Given the description of an element on the screen output the (x, y) to click on. 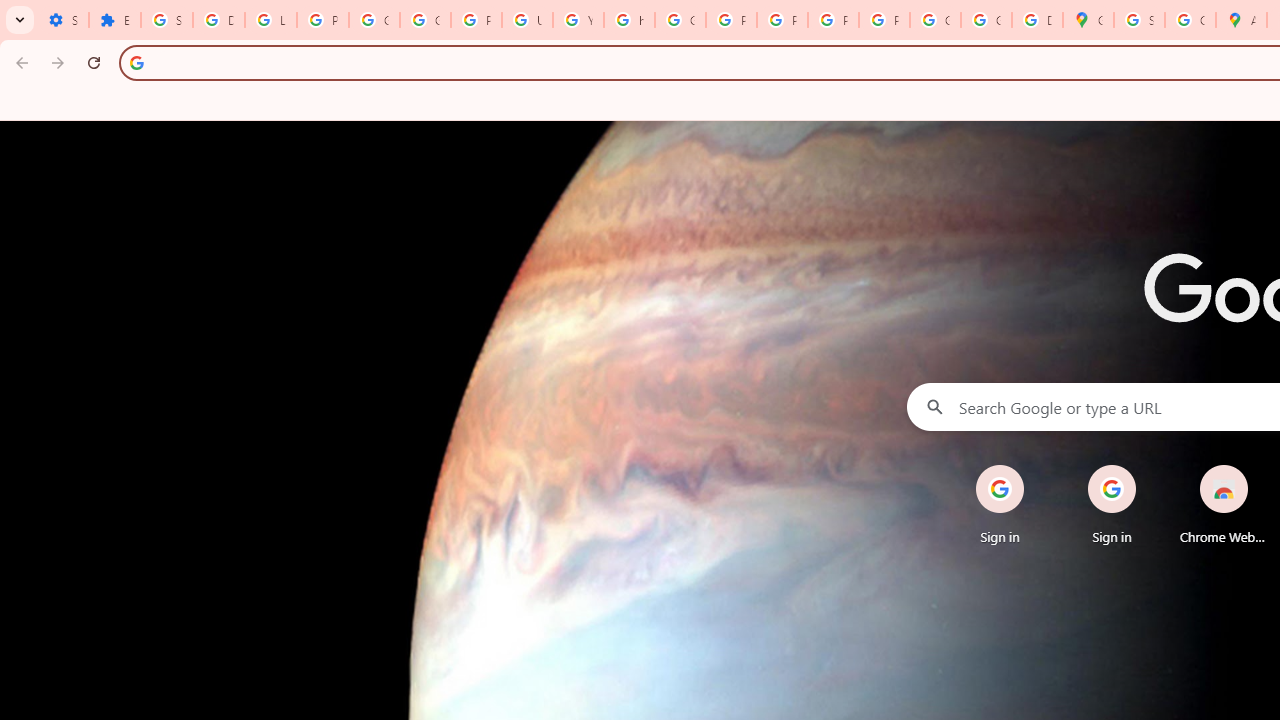
Sign in - Google Accounts (1138, 20)
Search icon (136, 62)
YouTube (578, 20)
Create your Google Account (1189, 20)
Delete photos & videos - Computer - Google Photos Help (218, 20)
Settings - On startup (63, 20)
Chrome Web Store (1223, 504)
Google Maps (1087, 20)
